Given the description of an element on the screen output the (x, y) to click on. 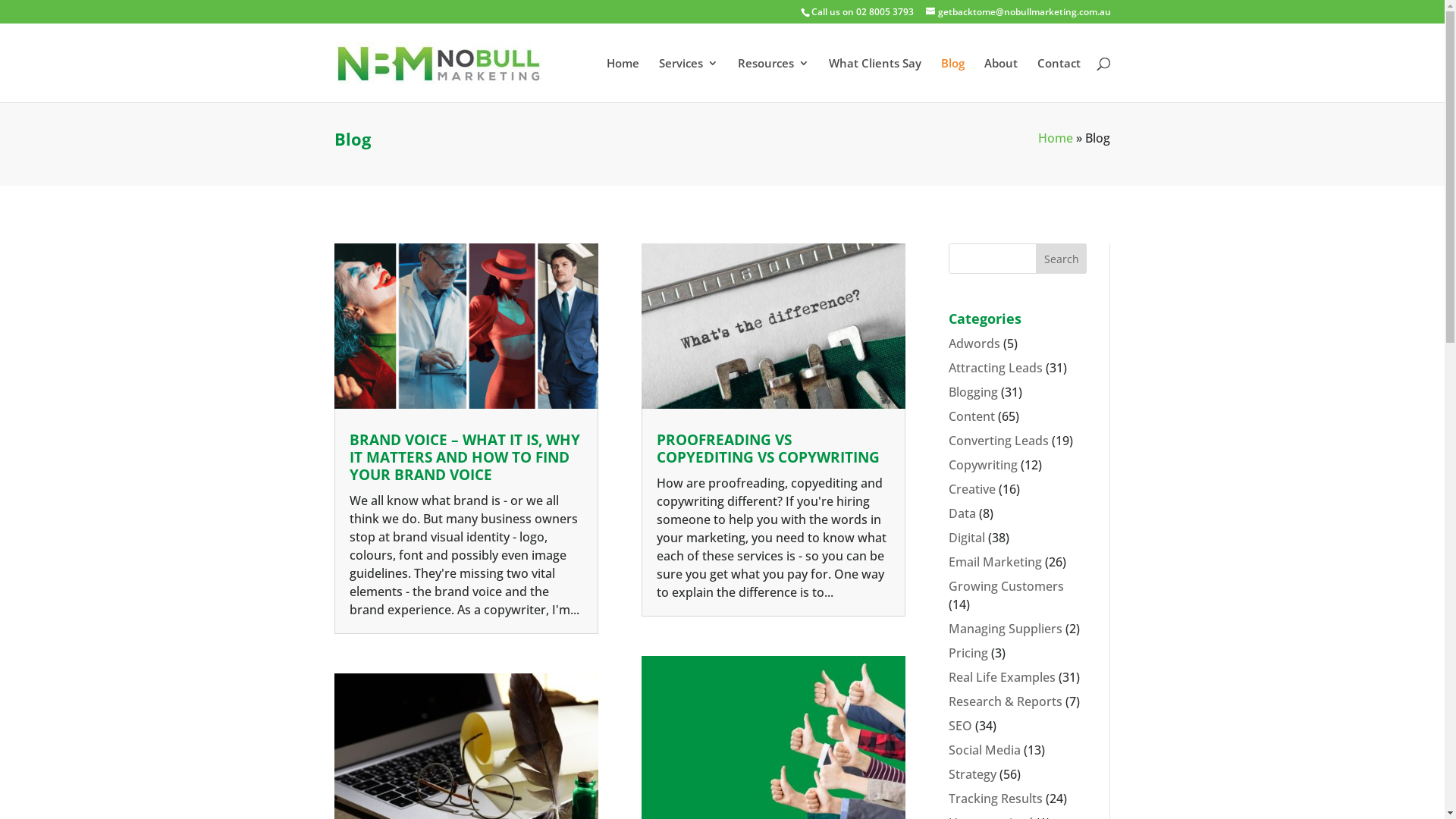
Digital Element type: text (966, 537)
What Clients Say Element type: text (874, 79)
Copywriting Element type: text (982, 464)
Services Element type: text (687, 79)
Creative Element type: text (971, 488)
About Element type: text (1000, 79)
Managing Suppliers Element type: text (1005, 628)
Growing Customers Element type: text (1005, 585)
Email Marketing Element type: text (994, 561)
Strategy Element type: text (972, 773)
Blogging Element type: text (972, 391)
Pricing Element type: text (968, 652)
getbacktome@nobullmarketing.com.au Element type: text (1017, 11)
Data Element type: text (961, 513)
Blog Element type: text (951, 79)
Social Media Element type: text (984, 749)
Home Element type: text (622, 79)
Search Element type: text (1061, 258)
Resources Element type: text (772, 79)
PROOFREADING VS COPYEDITING VS COPYWRITING Element type: text (767, 448)
Real Life Examples Element type: text (1001, 676)
Content Element type: text (971, 415)
Attracting Leads Element type: text (995, 367)
Converting Leads Element type: text (998, 440)
Adwords Element type: text (974, 343)
Research & Reports Element type: text (1005, 701)
SEO Element type: text (960, 725)
Contact Element type: text (1058, 79)
Home Element type: text (1055, 137)
Tracking Results Element type: text (995, 798)
